Given the description of an element on the screen output the (x, y) to click on. 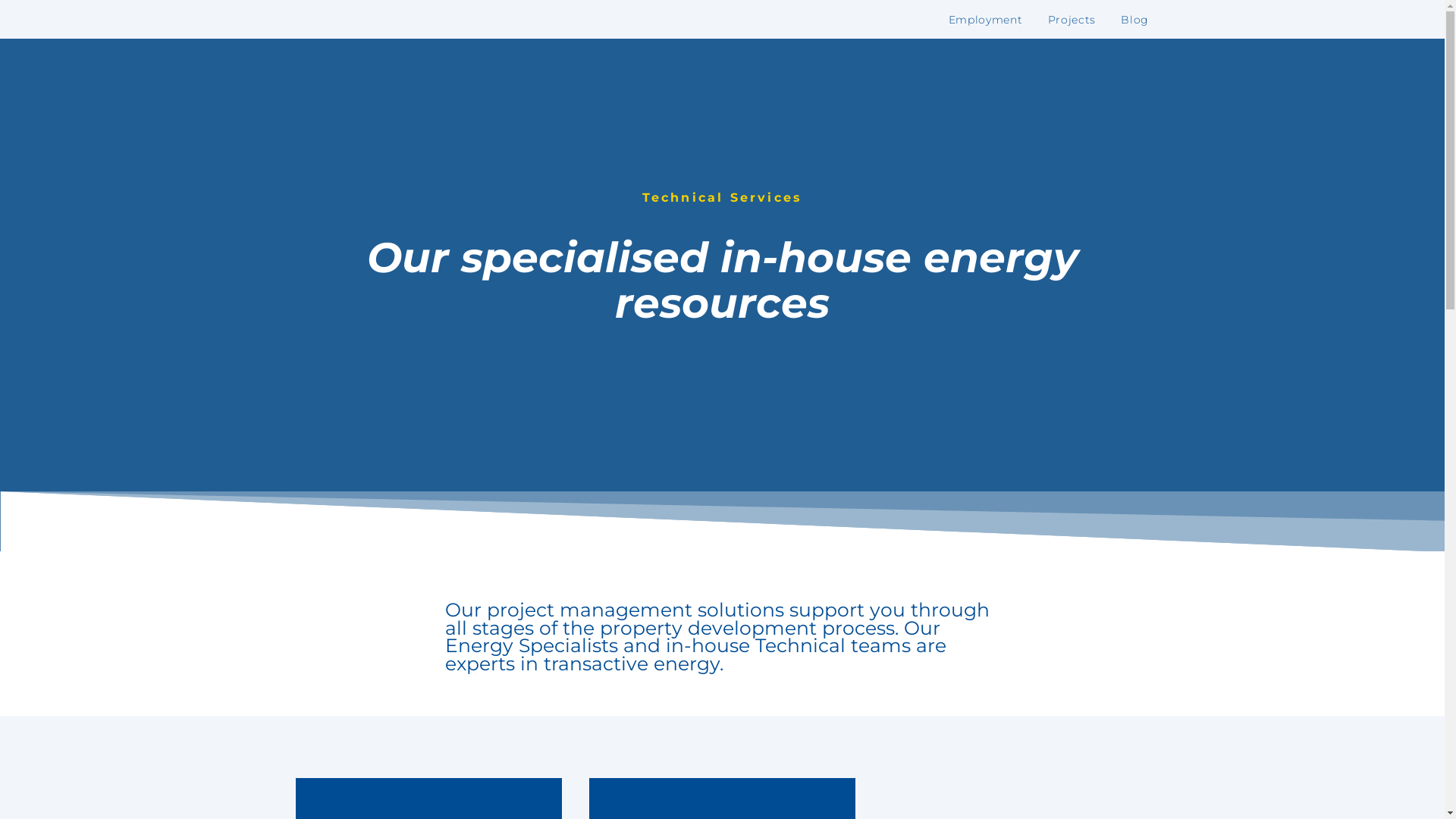
Blog Element type: text (1134, 19)
Projects Element type: text (1072, 19)
Employment Element type: text (985, 19)
